Given the description of an element on the screen output the (x, y) to click on. 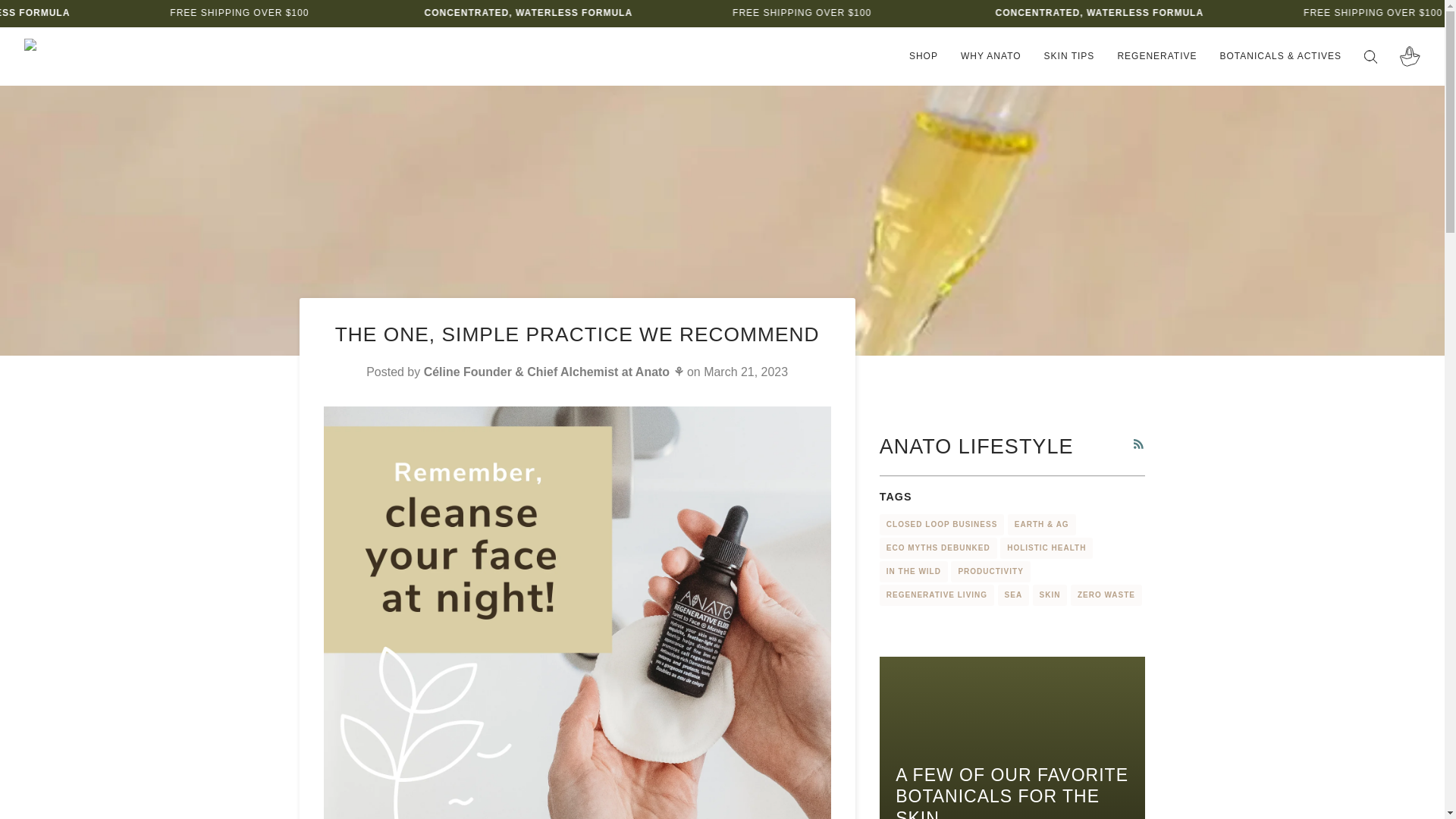
WHY ANATO (990, 56)
SKIN TIPS (1069, 56)
REGENERATIVE (1156, 56)
